Given the description of an element on the screen output the (x, y) to click on. 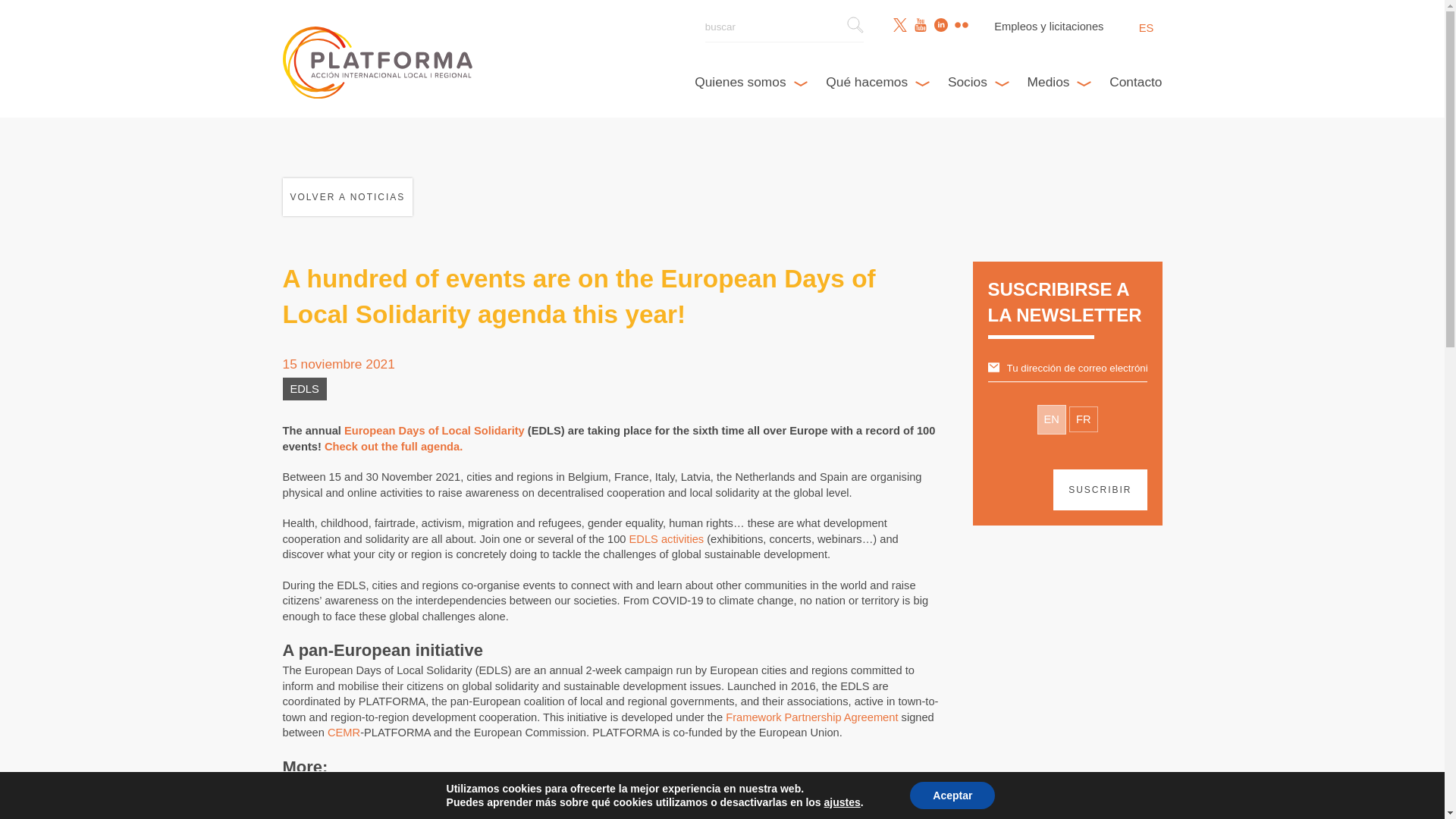
Socios (978, 81)
EDLS activities (666, 539)
CEMR (343, 732)
Empleos y licitaciones (1048, 25)
Check out the full agenda. (393, 446)
Return to all news (347, 197)
Page 1 Copy 6 Created with Sketch. (855, 24)
Framework Partnership Agreement (811, 717)
Contacto (1135, 81)
VOLVER A NOTICIAS (347, 197)
European Days of Local Solidarity (433, 430)
Medios (1058, 81)
ES (1145, 27)
localsolidaritydays.eu  (438, 787)
Quienes somos (751, 81)
